Given the description of an element on the screen output the (x, y) to click on. 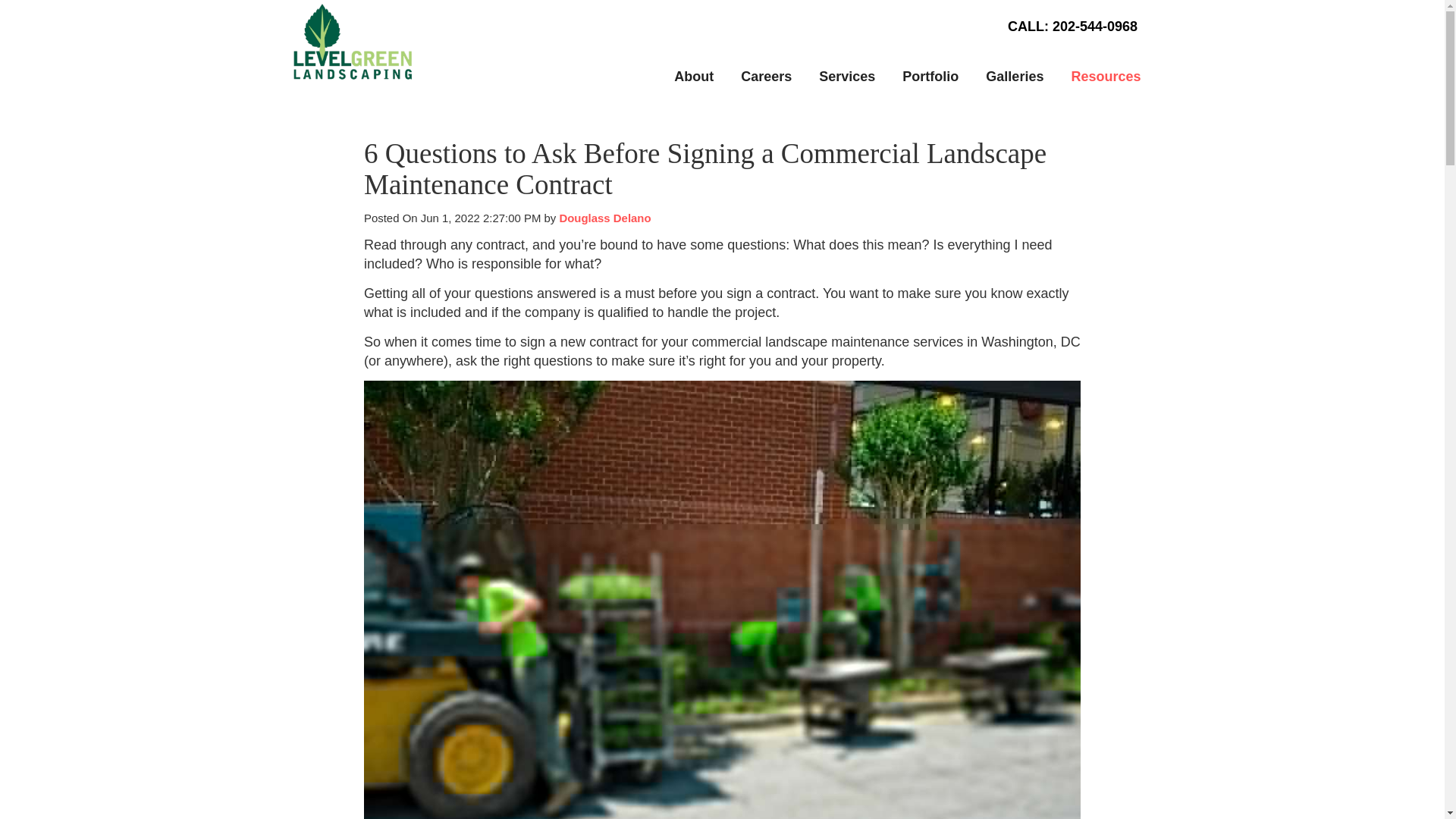
About (693, 77)
CALL: 202-544-0968 (1072, 25)
Portfolio (930, 77)
Services (846, 77)
Level Green Landscaping (351, 38)
Douglass Delano (604, 217)
Careers (765, 77)
Galleries (1014, 77)
